Given the description of an element on the screen output the (x, y) to click on. 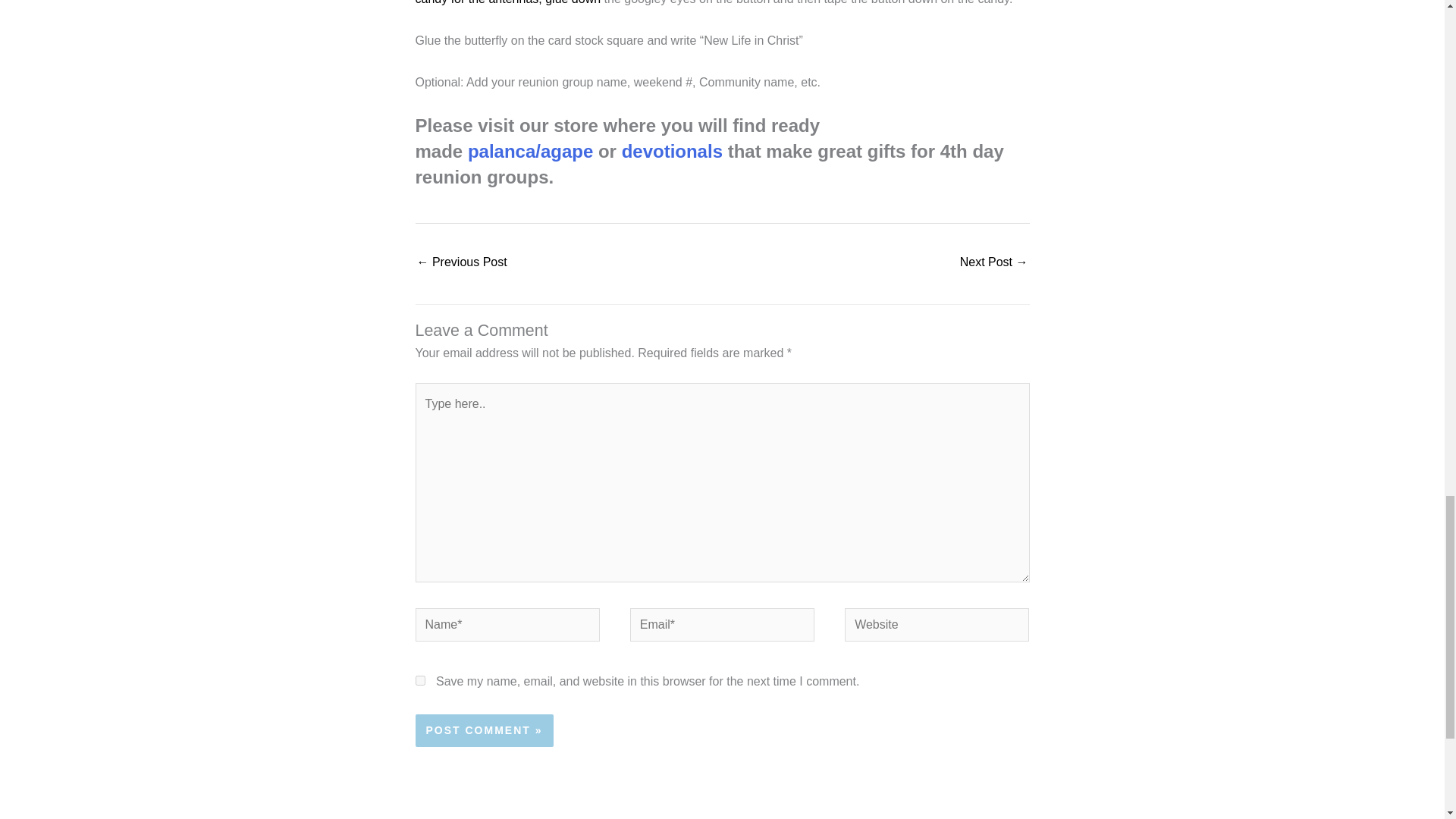
You Are One Of God's Favorite Chicks! (461, 263)
devotionals (671, 150)
yes (419, 680)
Do You Call it Palanca or Agape? (993, 263)
